Given the description of an element on the screen output the (x, y) to click on. 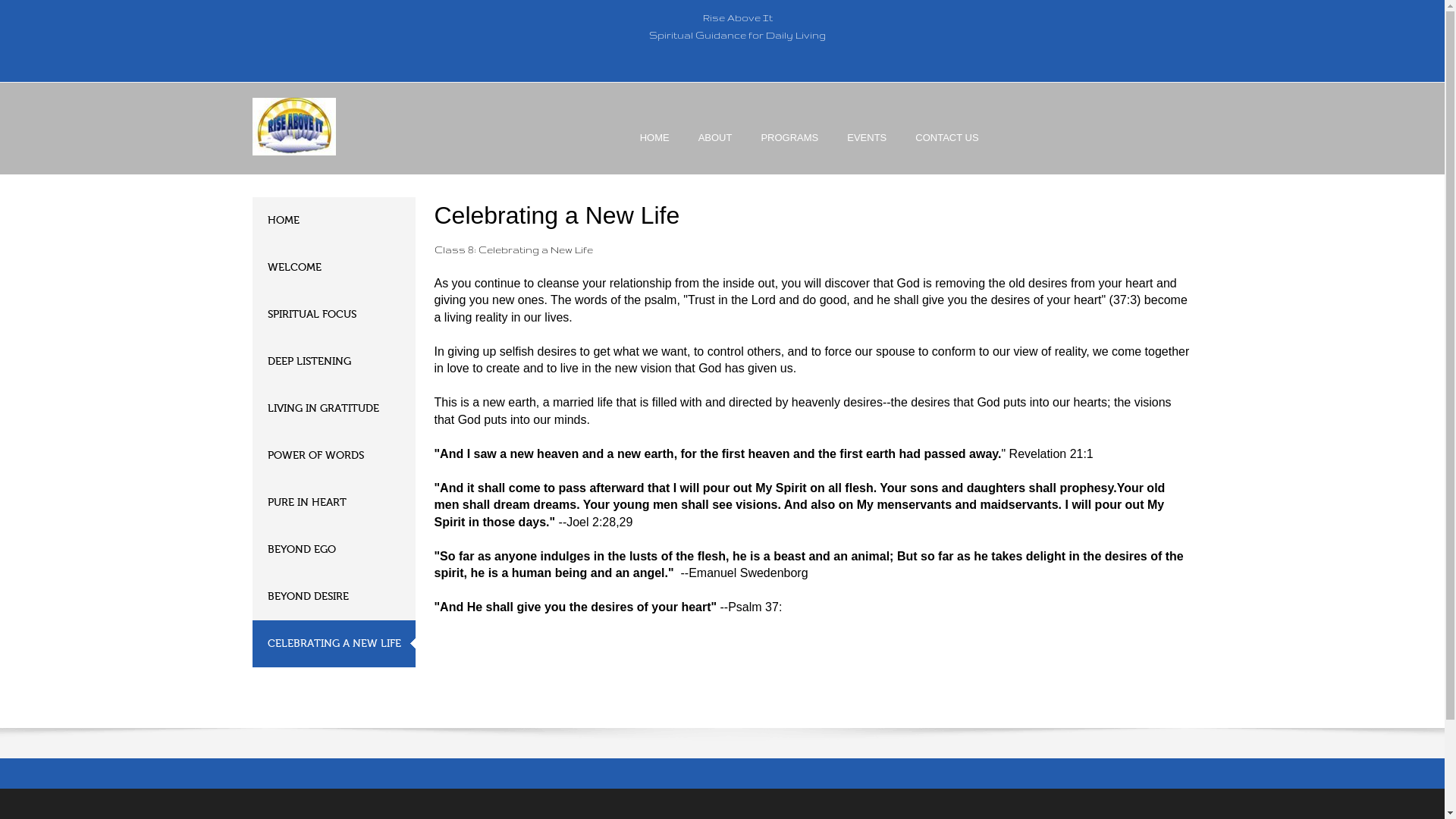
Contact Us (946, 150)
BEYOND EGO (332, 549)
Go to site home page (292, 125)
CONTACT US (946, 150)
HOME (332, 220)
PROGRAMS (789, 150)
POWER OF WORDS (332, 455)
LIVING IN GRATITUDE (332, 408)
SPIRITUAL FOCUS (332, 314)
CELEBRATING A NEW LIFE (332, 643)
